Given the description of an element on the screen output the (x, y) to click on. 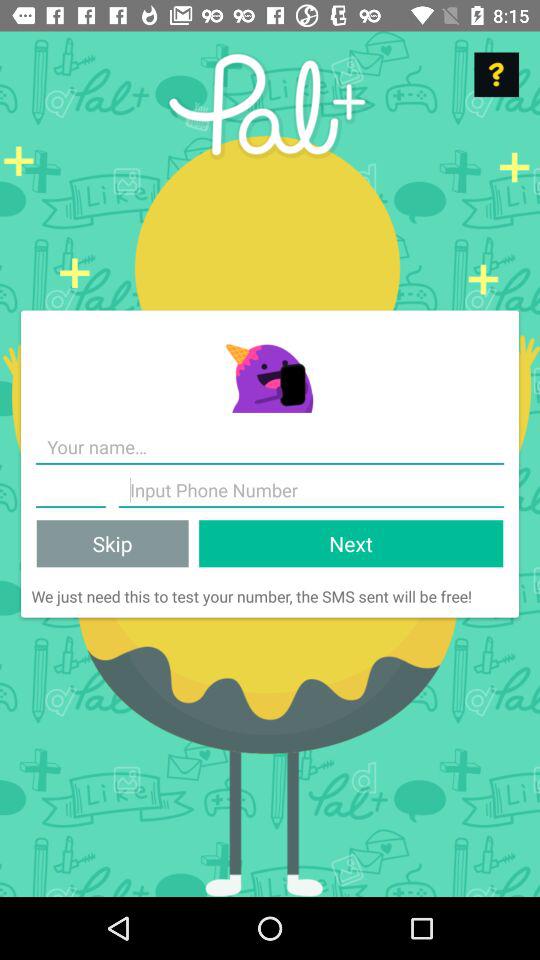
choose icon to the left of next icon (112, 543)
